Given the description of an element on the screen output the (x, y) to click on. 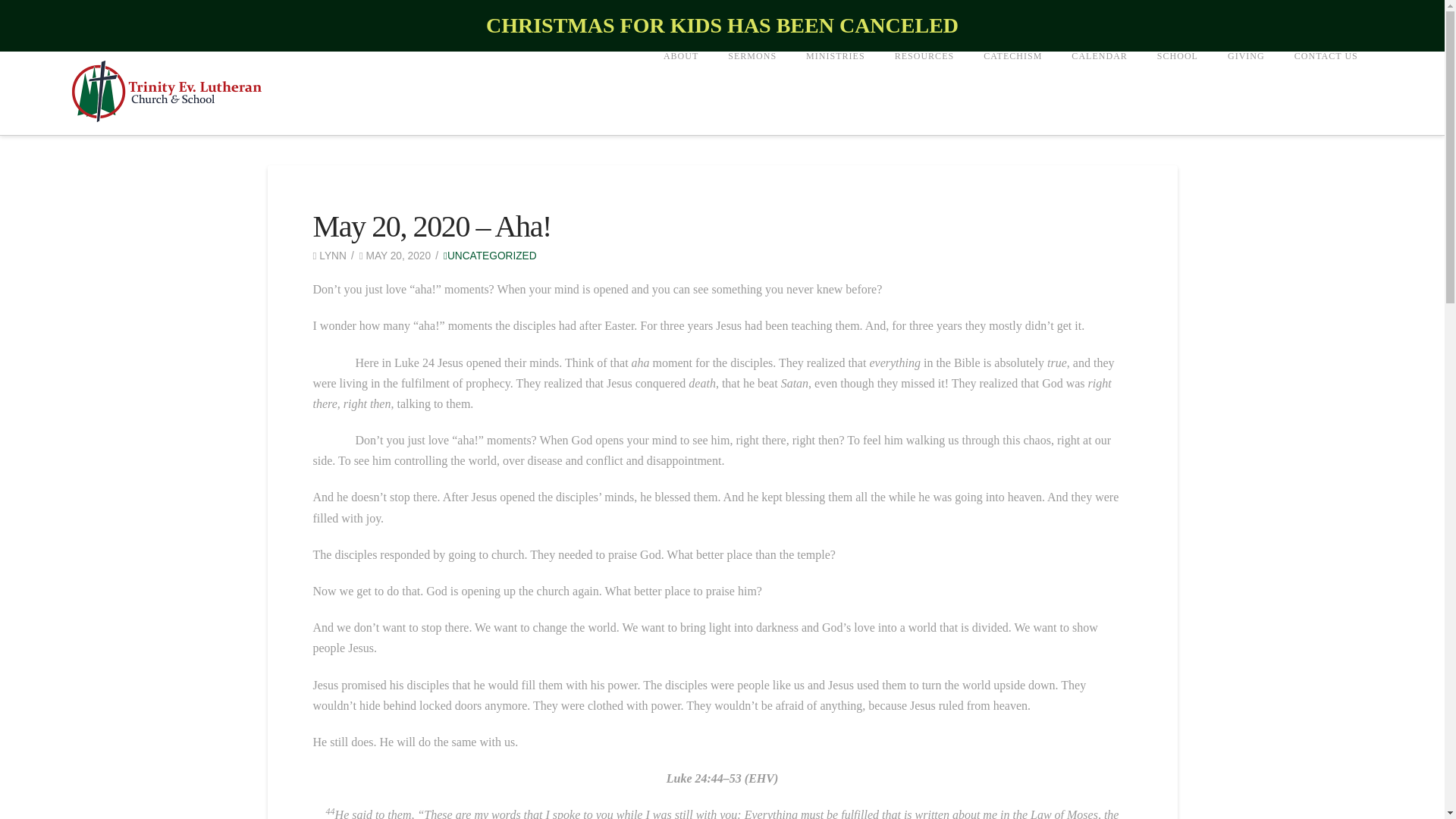
SERMONS (751, 93)
UNCATEGORIZED (490, 255)
CONTACT US (1326, 93)
MINISTRIES (834, 93)
CALENDAR (1099, 93)
CATECHISM (1012, 93)
RESOURCES (924, 93)
